Given the description of an element on the screen output the (x, y) to click on. 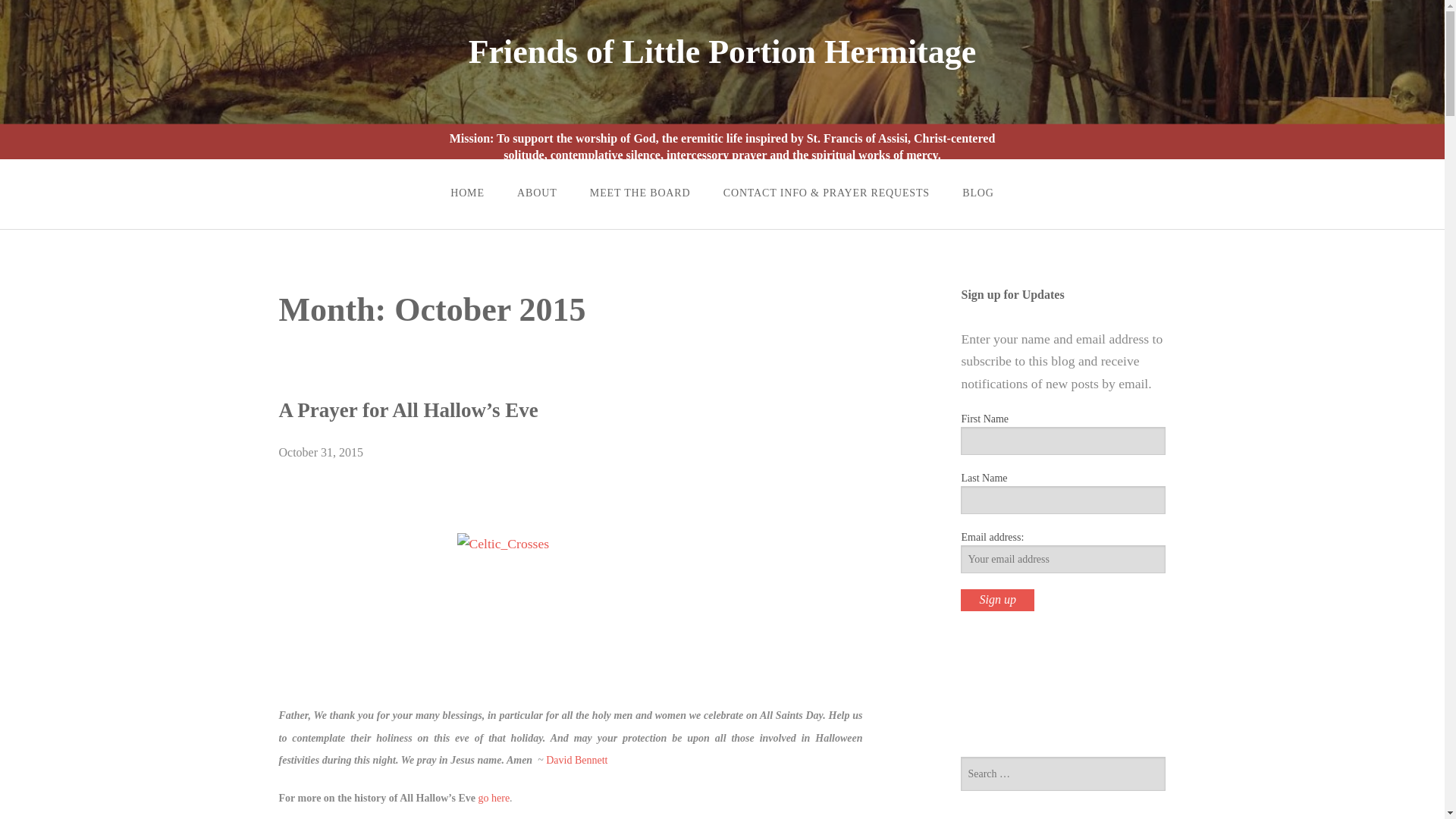
ABOUT (536, 192)
Sign up (996, 599)
MEET THE BOARD (639, 192)
BLOG (978, 192)
Friends of Little Portion Hermitage (722, 51)
go here (493, 797)
David Bennett (576, 759)
HOME (466, 192)
